Given the description of an element on the screen output the (x, y) to click on. 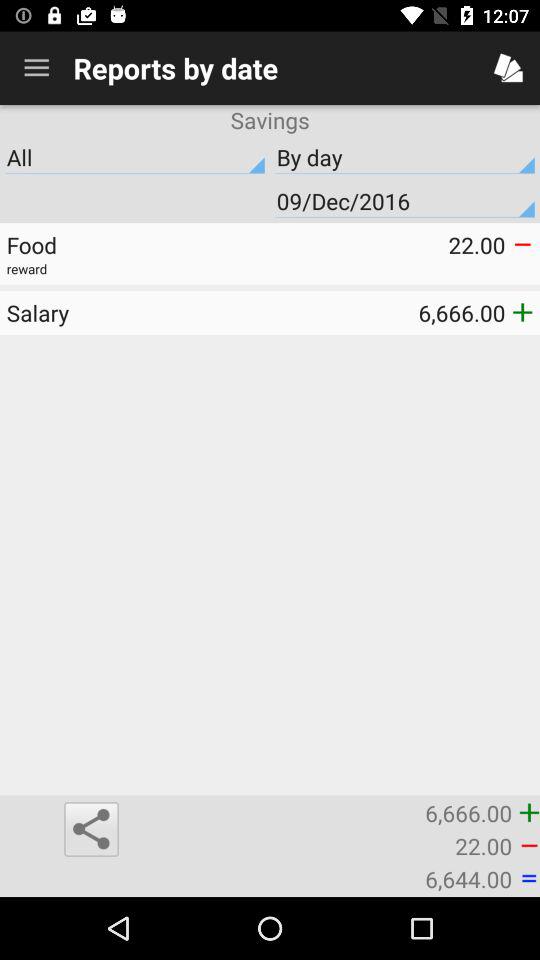
open icon next to reports by date item (36, 68)
